Given the description of an element on the screen output the (x, y) to click on. 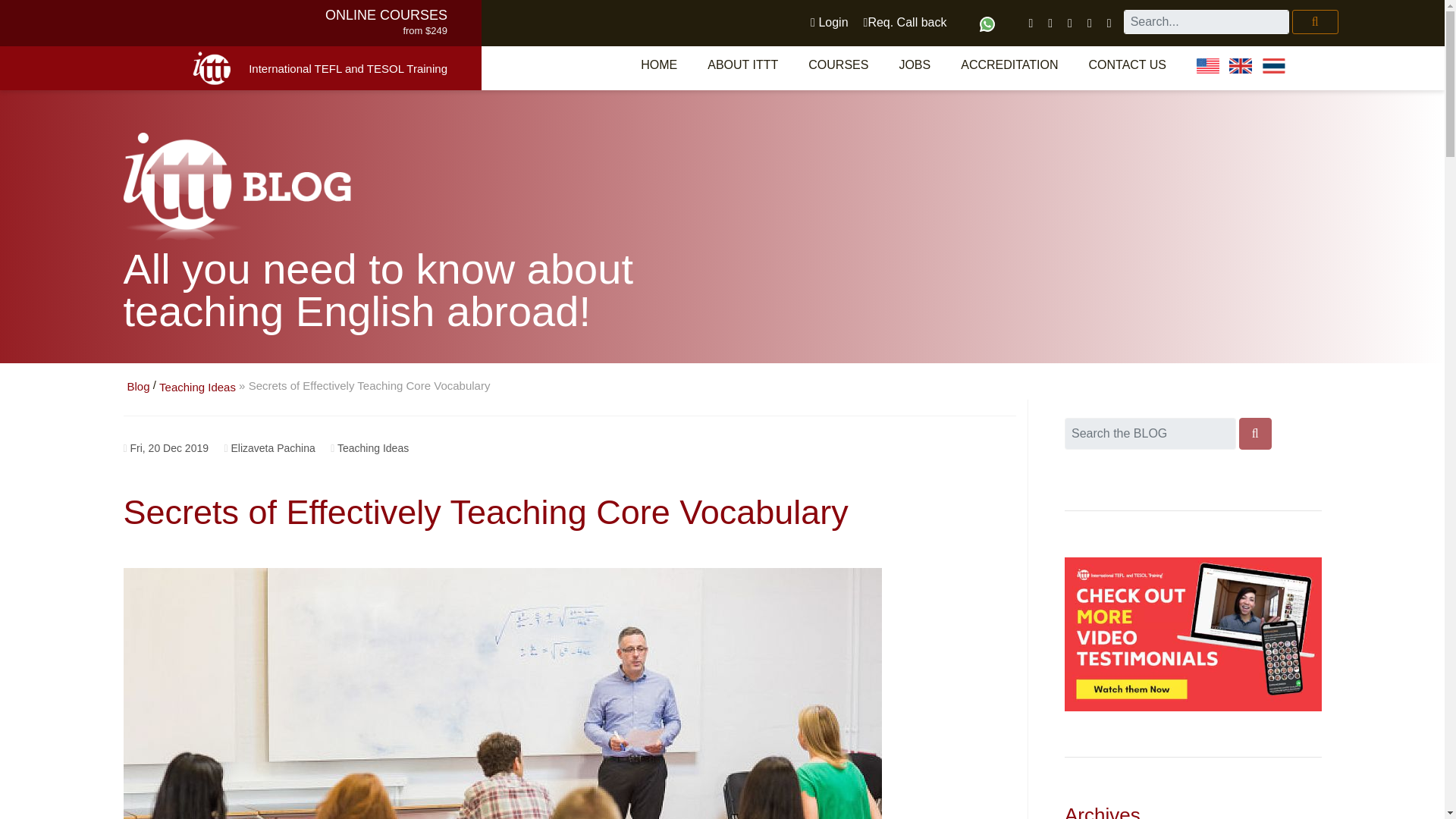
UK Office (1240, 65)
Request a call back (905, 22)
Req. Call back (905, 22)
CONTACT US (1128, 64)
ONLINE COURSES (385, 14)
ABOUT ITTT (743, 64)
Thailand Office (1273, 65)
HOME (659, 64)
International TEFL and TESOL Training (347, 68)
